Given the description of an element on the screen output the (x, y) to click on. 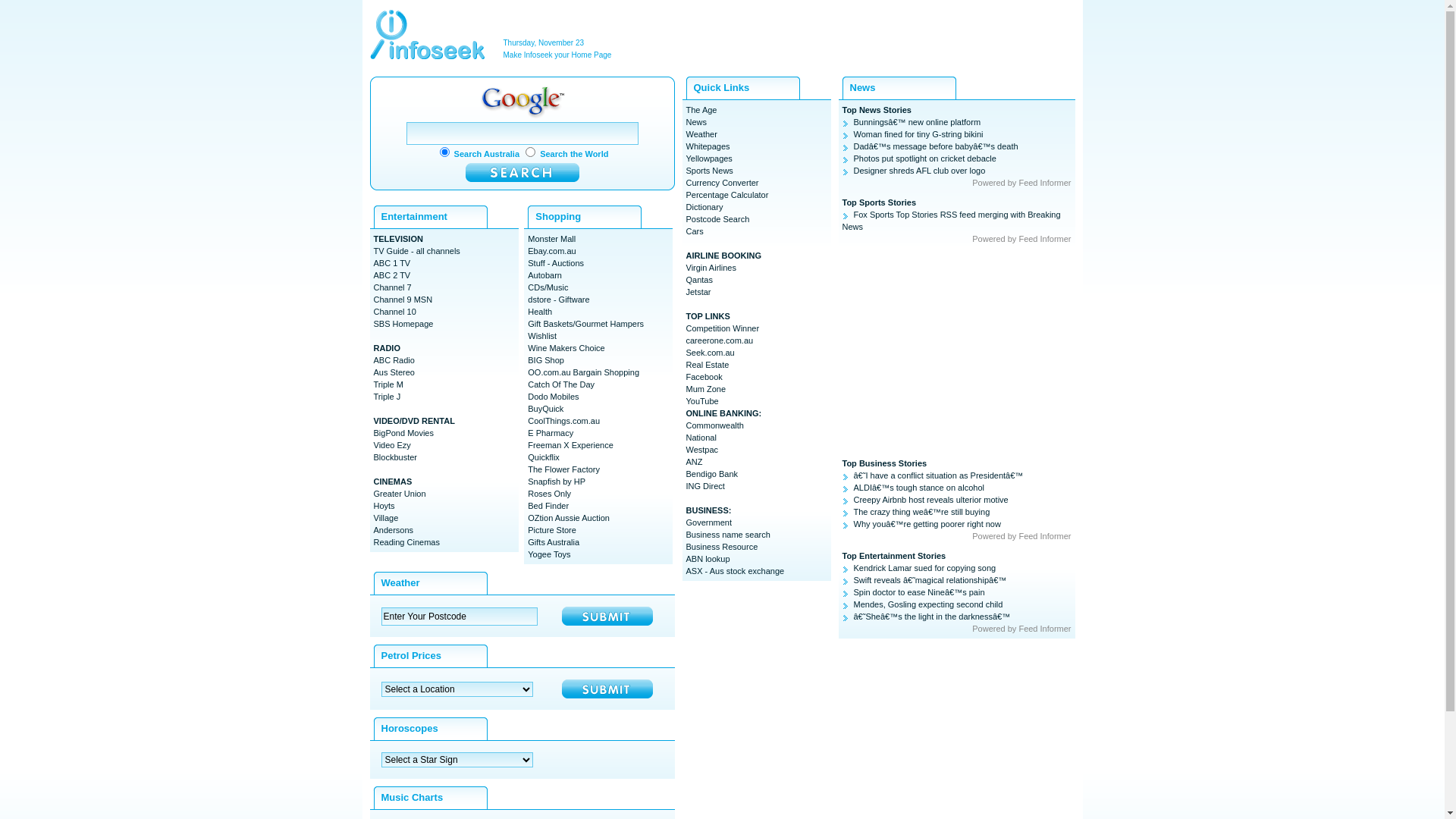
Bendigo Bank Element type: text (711, 473)
Government Element type: text (708, 522)
Facebook Element type: text (703, 376)
Cars Element type: text (693, 230)
Stuff - Auctions Element type: text (555, 262)
Fox Sports Top Stories RSS feed merging with Breaking News Element type: text (950, 220)
ANZ Element type: text (693, 461)
Postcode Search Element type: text (717, 218)
OZtion Aussie Auction Element type: text (568, 517)
Roses Only Element type: text (549, 493)
Commonwealth Element type: text (714, 424)
Yogee Toys Element type: text (548, 553)
Hoyts Element type: text (383, 505)
Advertisement Element type: hover (897, 38)
Freeman X Experience Element type: text (570, 444)
ABC 2 TV Element type: text (391, 274)
Catch Of The Day Element type: text (560, 384)
Real Estate Element type: text (706, 364)
Gifts Australia Element type: text (553, 541)
CoolThings.com.au Element type: text (563, 420)
Kendrick Lamar sued for copying song Element type: text (918, 567)
Currency Converter Element type: text (721, 182)
The Age Element type: text (700, 109)
Business name search Element type: text (727, 534)
BigPond Movies Element type: text (403, 432)
News Element type: text (695, 121)
Enter Your Postcode Element type: text (458, 615)
BuyQuick Element type: text (545, 408)
Quickflix Element type: text (543, 456)
CDs/Music Element type: text (547, 286)
SBS Homepage Element type: text (403, 323)
Mendes, Gosling expecting second child Element type: text (921, 603)
Photos put spotlight on cricket debacle Element type: text (918, 158)
Competition Winner Element type: text (722, 327)
Seek.com.au Element type: text (709, 352)
Percentage Calculator Element type: text (726, 194)
ASX - Aus stock exchange Element type: text (734, 570)
Jetstar Element type: text (697, 291)
Bed Finder Element type: text (547, 505)
ABC 1 TV Element type: text (391, 262)
Monster Mall Element type: text (551, 238)
dstore - Giftware Element type: text (558, 299)
Picture Store Element type: text (551, 529)
Reading Cinemas Element type: text (406, 541)
Sports News Element type: text (708, 170)
Powered by Feed Informer Element type: text (1021, 238)
Channel 9 MSN Element type: text (402, 299)
Dodo Mobiles Element type: text (552, 396)
Channel 7 Element type: text (392, 286)
Woman fined for tiny G-string bikini Element type: text (911, 133)
Qantas Element type: text (698, 279)
National Element type: text (700, 437)
Gift Baskets/Gourmet Hampers Element type: text (585, 323)
The Flower Factory Element type: text (563, 468)
Powered by Feed Informer Element type: text (1021, 182)
Ebay.com.au Element type: text (551, 250)
Village Element type: text (385, 517)
Mum Zone Element type: text (705, 388)
ABN lookup Element type: text (707, 558)
Yellowpages Element type: text (708, 158)
careerone.com.au Element type: text (719, 340)
Triple J Element type: text (386, 396)
Business Resource Element type: text (721, 546)
Virgin Airlines Element type: text (710, 267)
ING Direct Element type: text (704, 485)
Video Ezy Element type: text (391, 444)
Aus Stereo Element type: text (393, 371)
Andersons Element type: text (393, 529)
TV Guide - all channels Element type: text (416, 250)
Health Element type: text (539, 311)
BIG Shop Element type: text (545, 359)
E Pharmacy Element type: text (550, 432)
Whitepages Element type: text (707, 145)
Advertisement Element type: hover (955, 350)
Powered by Feed Informer Element type: text (1021, 535)
Dictionary Element type: text (703, 206)
YouTube Element type: text (701, 400)
Wine Makers Choice Element type: text (565, 347)
Autobarn Element type: text (544, 274)
Wishlist Element type: text (541, 335)
OO.com.au Bargain Shopping Element type: text (583, 371)
Weather Element type: text (700, 133)
Channel 10 Element type: text (394, 311)
ABC Radio Element type: text (393, 359)
Westpac Element type: text (701, 449)
Make Infoseek your Home Page Element type: text (557, 54)
Triple M Element type: text (387, 384)
Blockbuster Element type: text (394, 456)
Powered by Feed Informer Element type: text (1021, 628)
Greater Union Element type: text (399, 493)
Creepy Airbnb host reveals ulterior motive Element type: text (924, 499)
Snapfish by HP Element type: text (556, 481)
Designer shreds AFL club over logo Element type: text (913, 170)
